Given the description of an element on the screen output the (x, y) to click on. 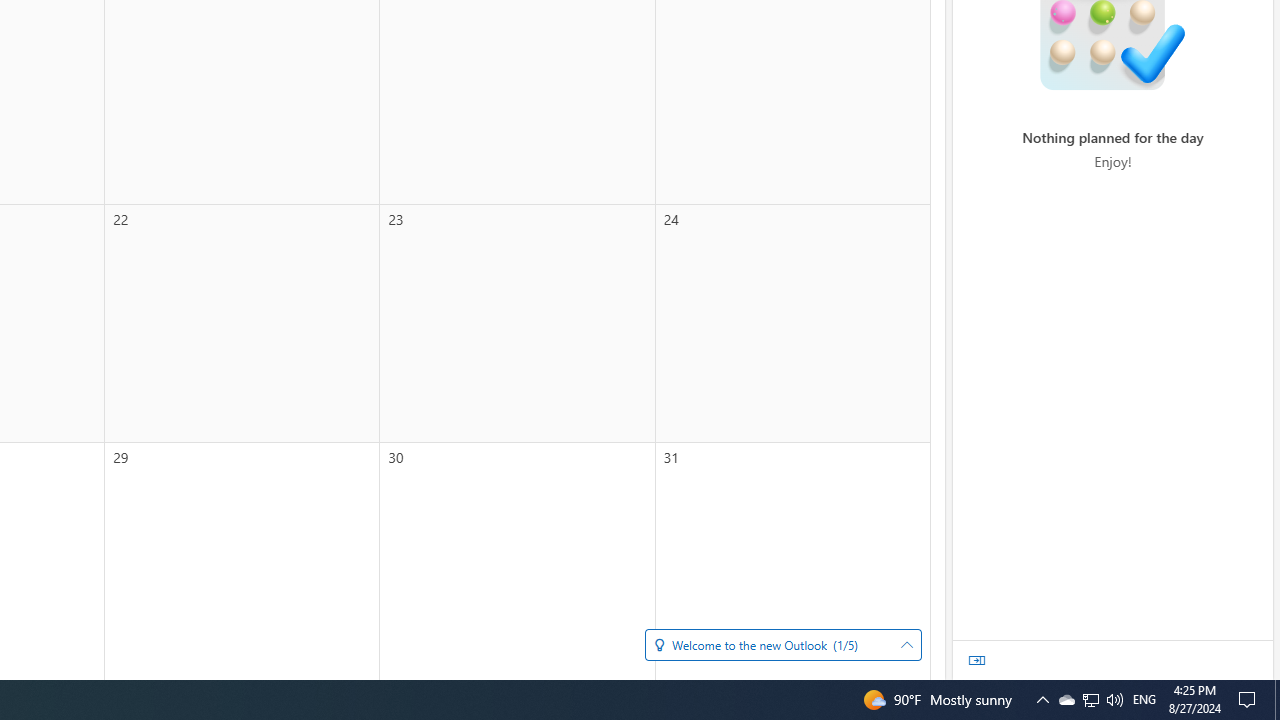
Toggle agenda pane (977, 660)
